Given the description of an element on the screen output the (x, y) to click on. 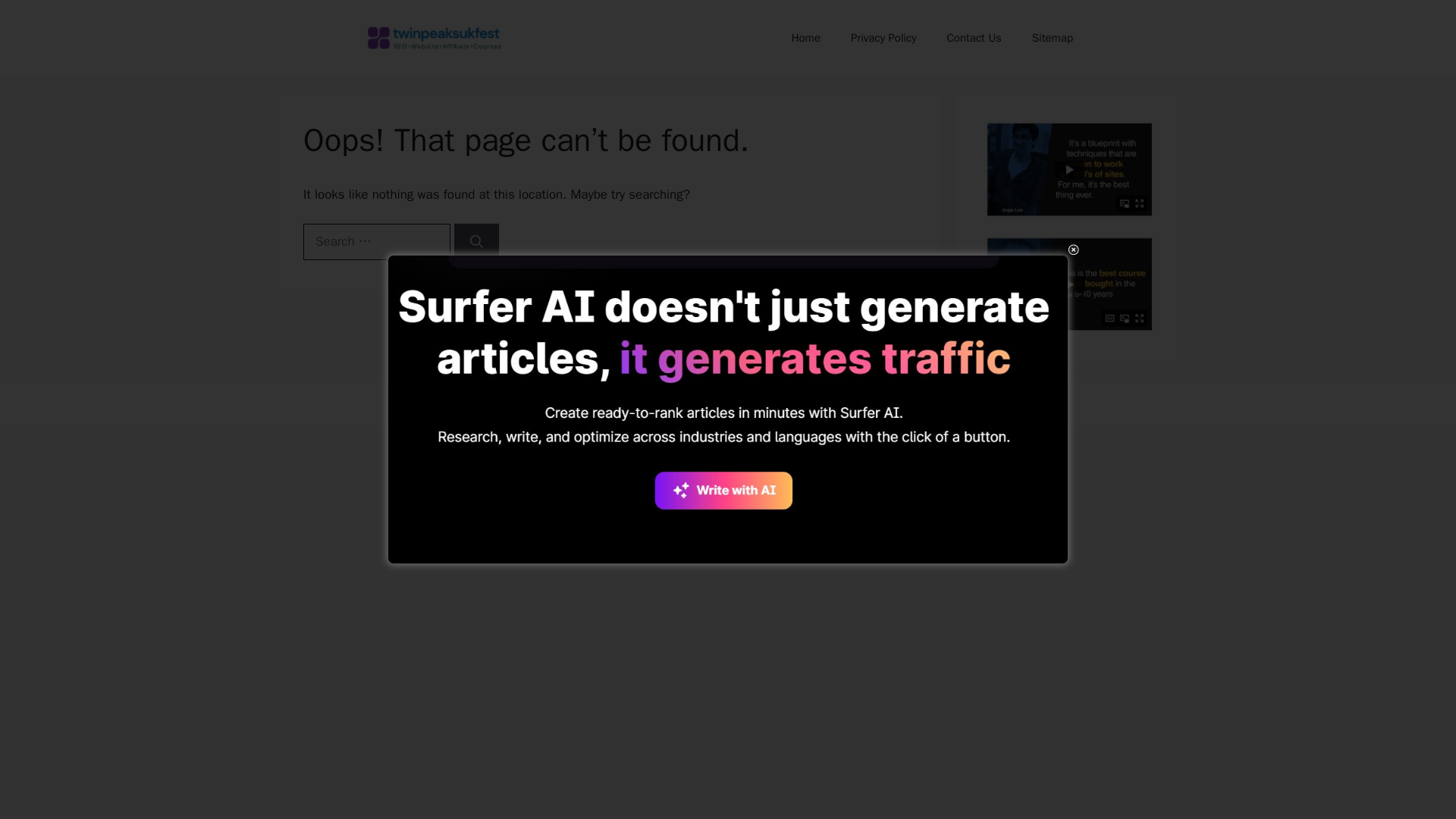
Close (1072, 249)
Contact Us (973, 37)
Search for: (375, 241)
Home (805, 37)
Sitemap (1051, 37)
Privacy Policy (883, 37)
